Given the description of an element on the screen output the (x, y) to click on. 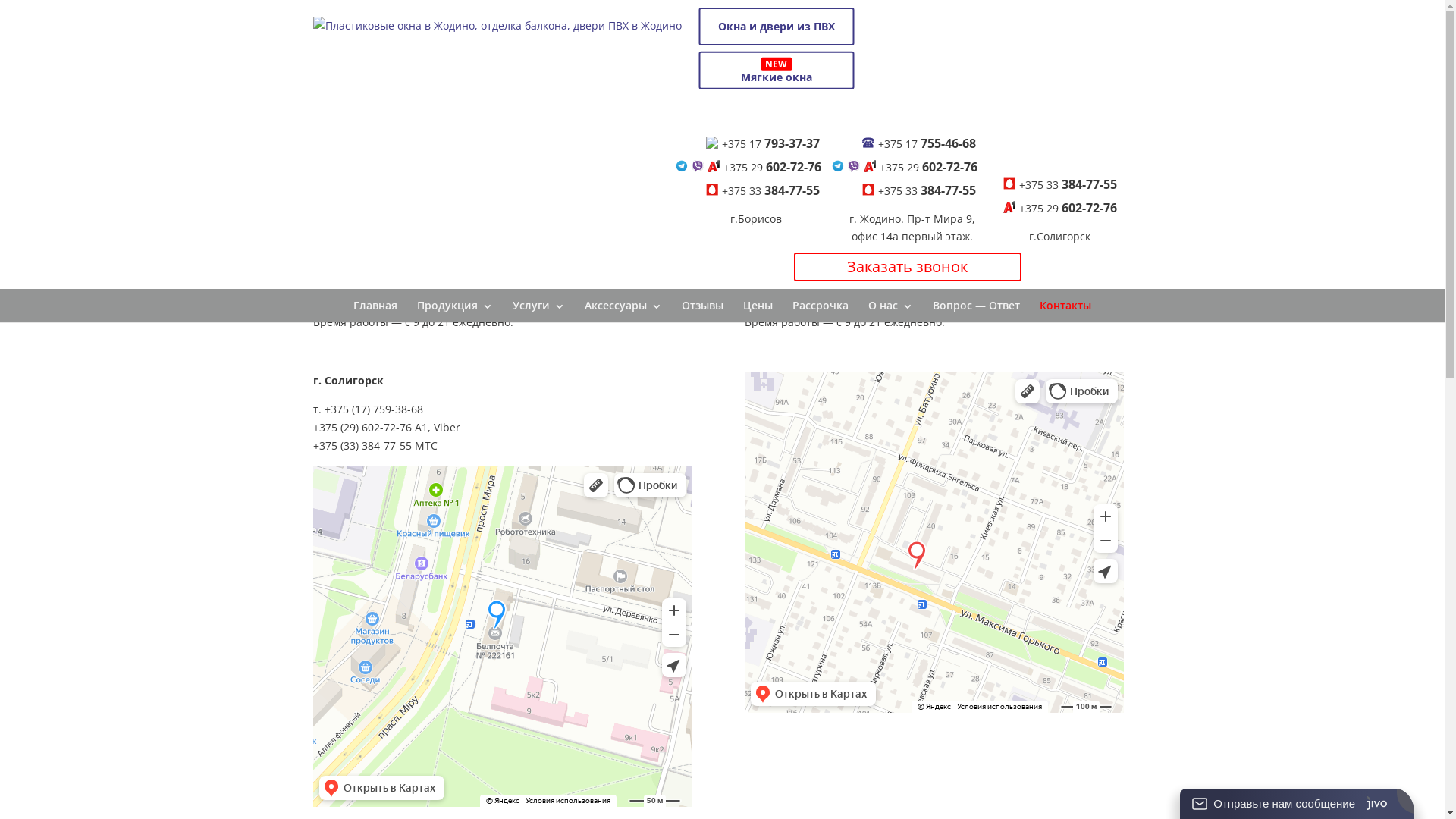
oknaservice.st@gmail.com Element type: text (379, 292)
oknaservice.st@gmail.com Element type: text (811, 292)
